Given the description of an element on the screen output the (x, y) to click on. 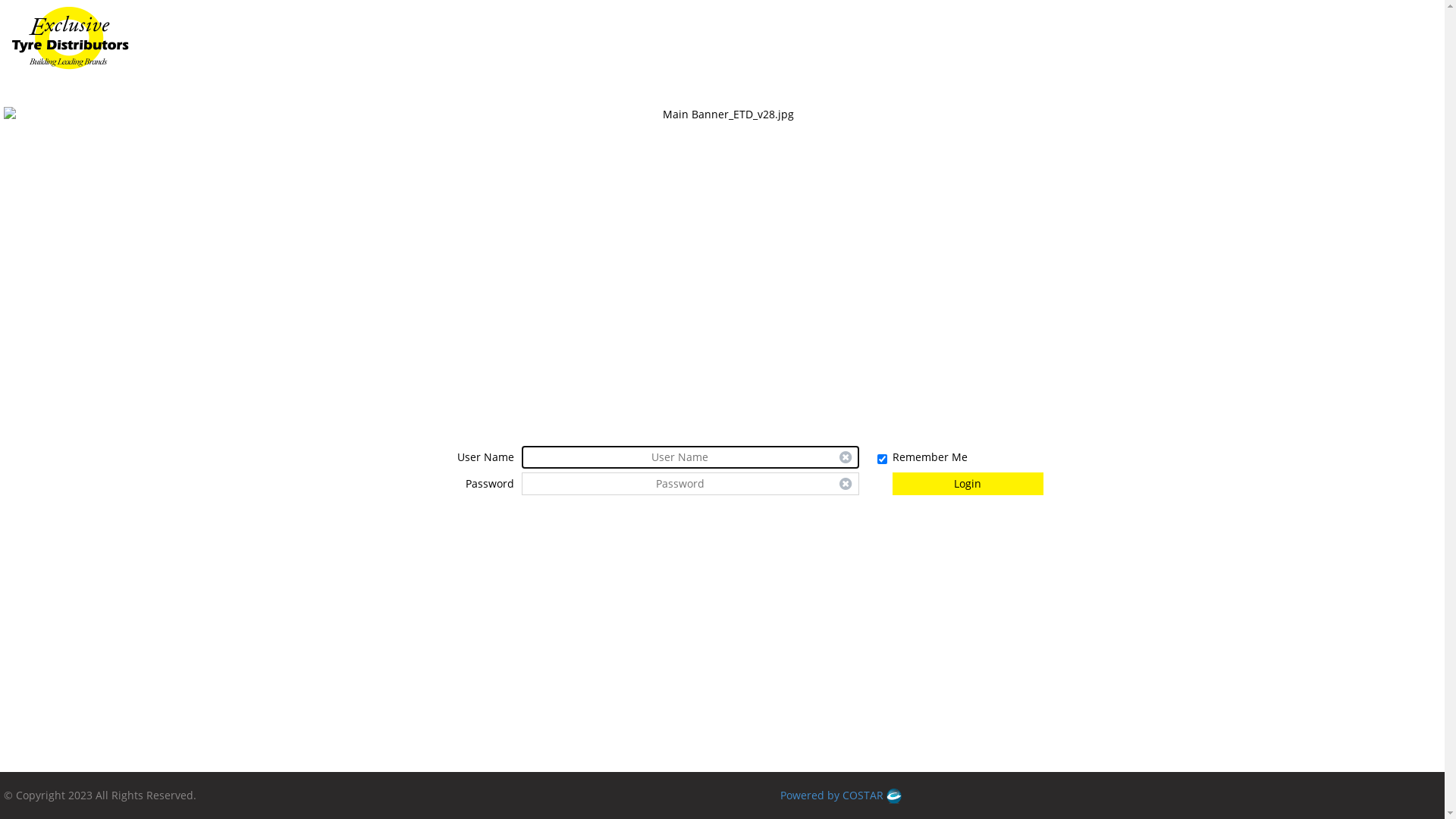
Powered by COSTAR Element type: text (840, 794)
Login Element type: text (968, 483)
